Given the description of an element on the screen output the (x, y) to click on. 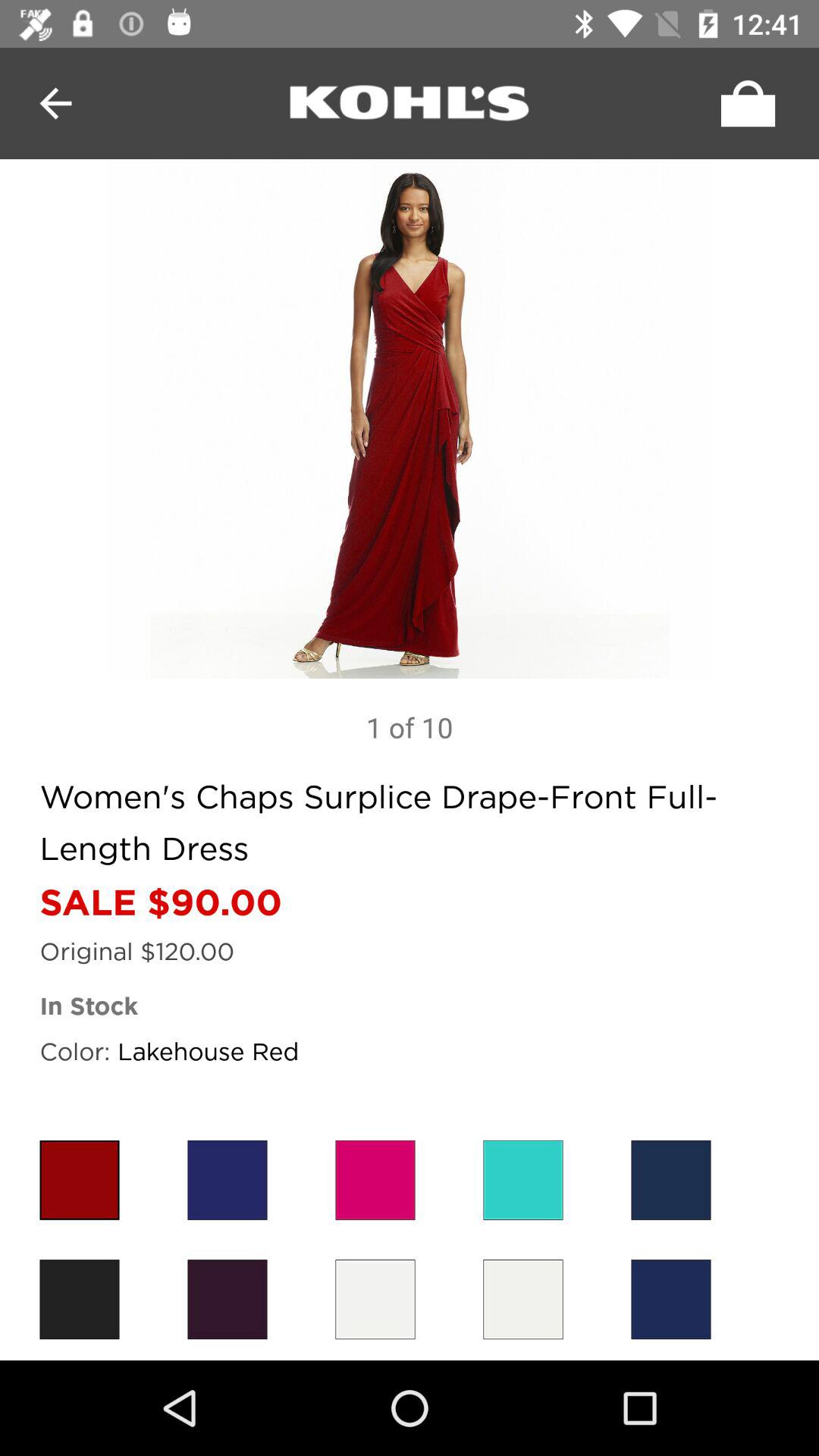
select color option (375, 1179)
